Given the description of an element on the screen output the (x, y) to click on. 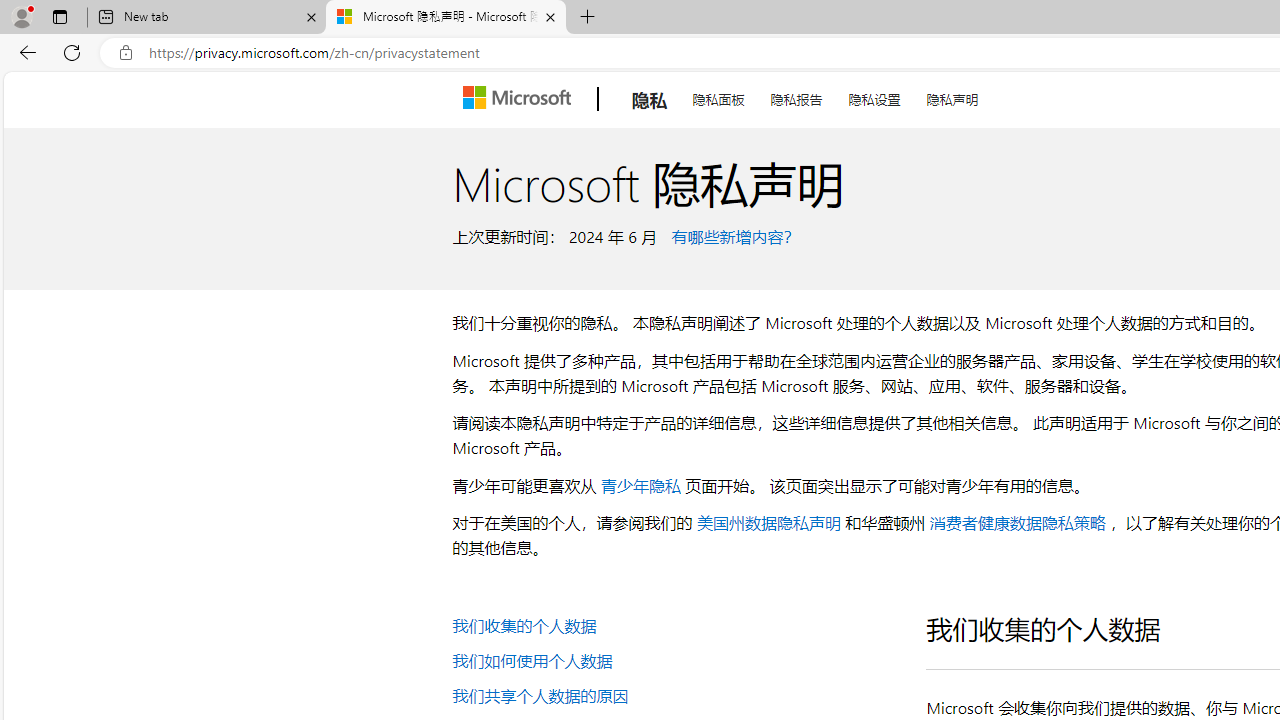
Microsoft (520, 99)
